Given the description of an element on the screen output the (x, y) to click on. 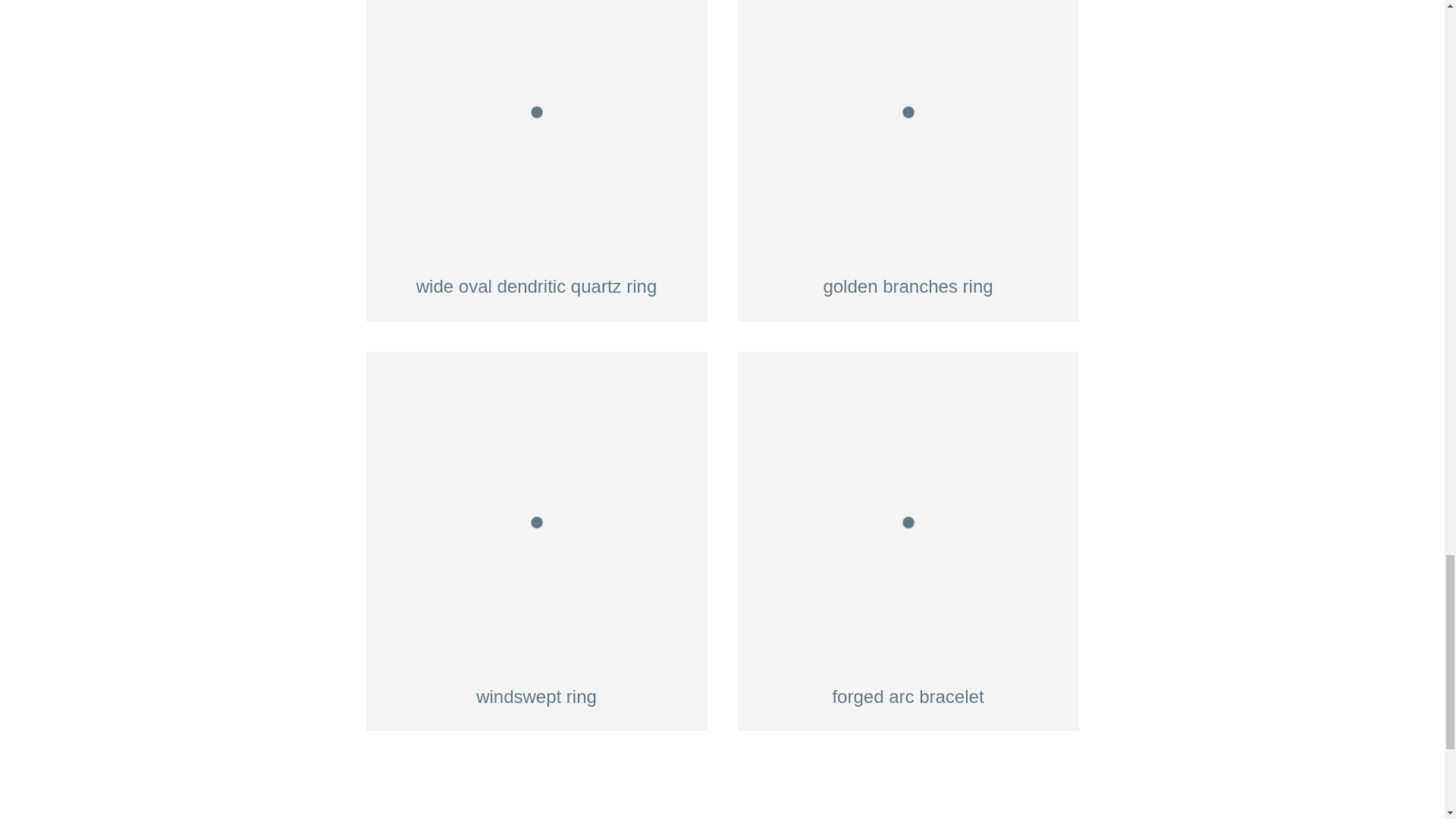
wide oval dendritic quartz ring (535, 160)
windswept ring (535, 542)
golden branches ring (907, 160)
